Given the description of an element on the screen output the (x, y) to click on. 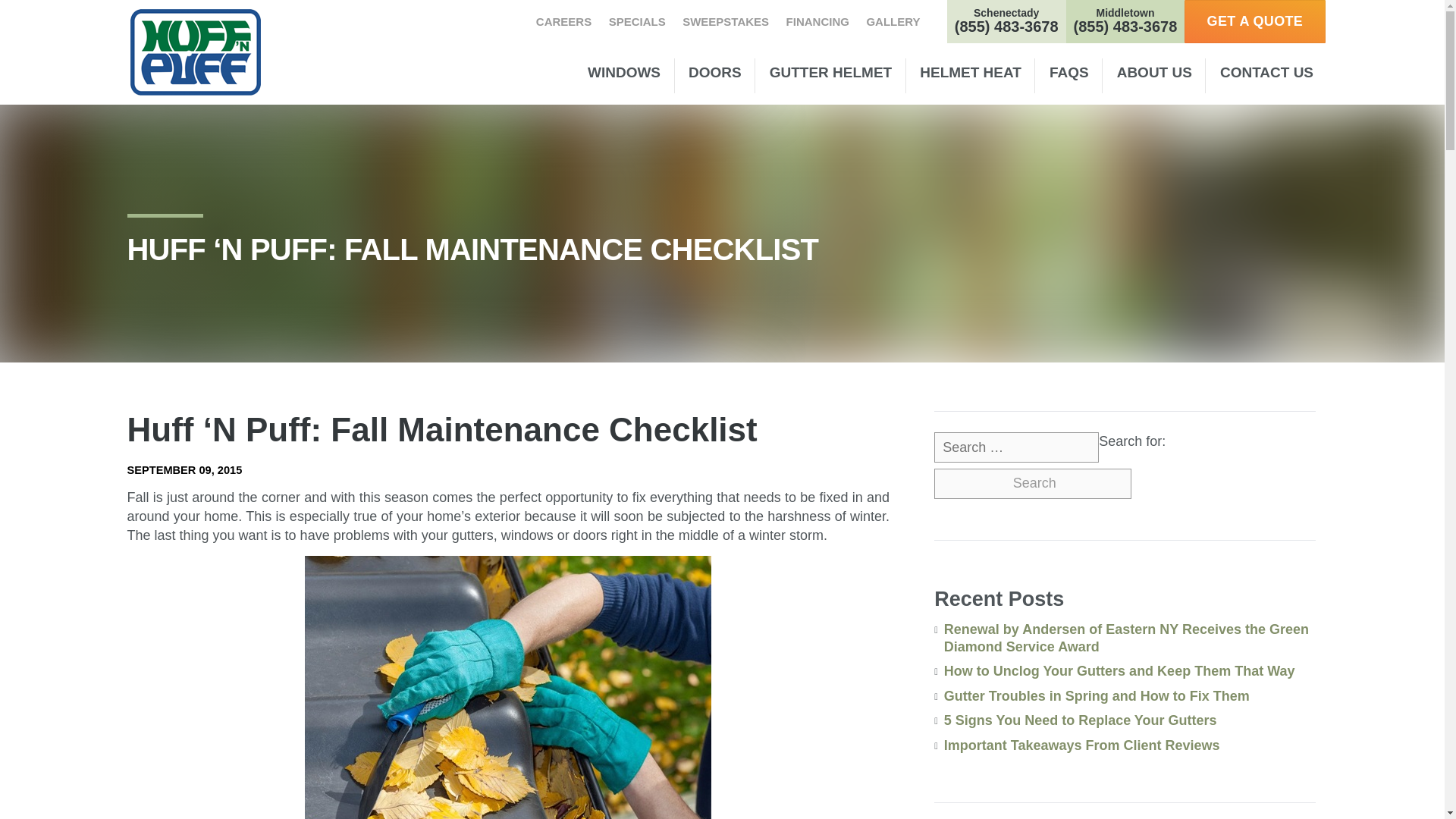
Huff n Puff (195, 52)
Search (1032, 483)
Search (1032, 483)
